Given the description of an element on the screen output the (x, y) to click on. 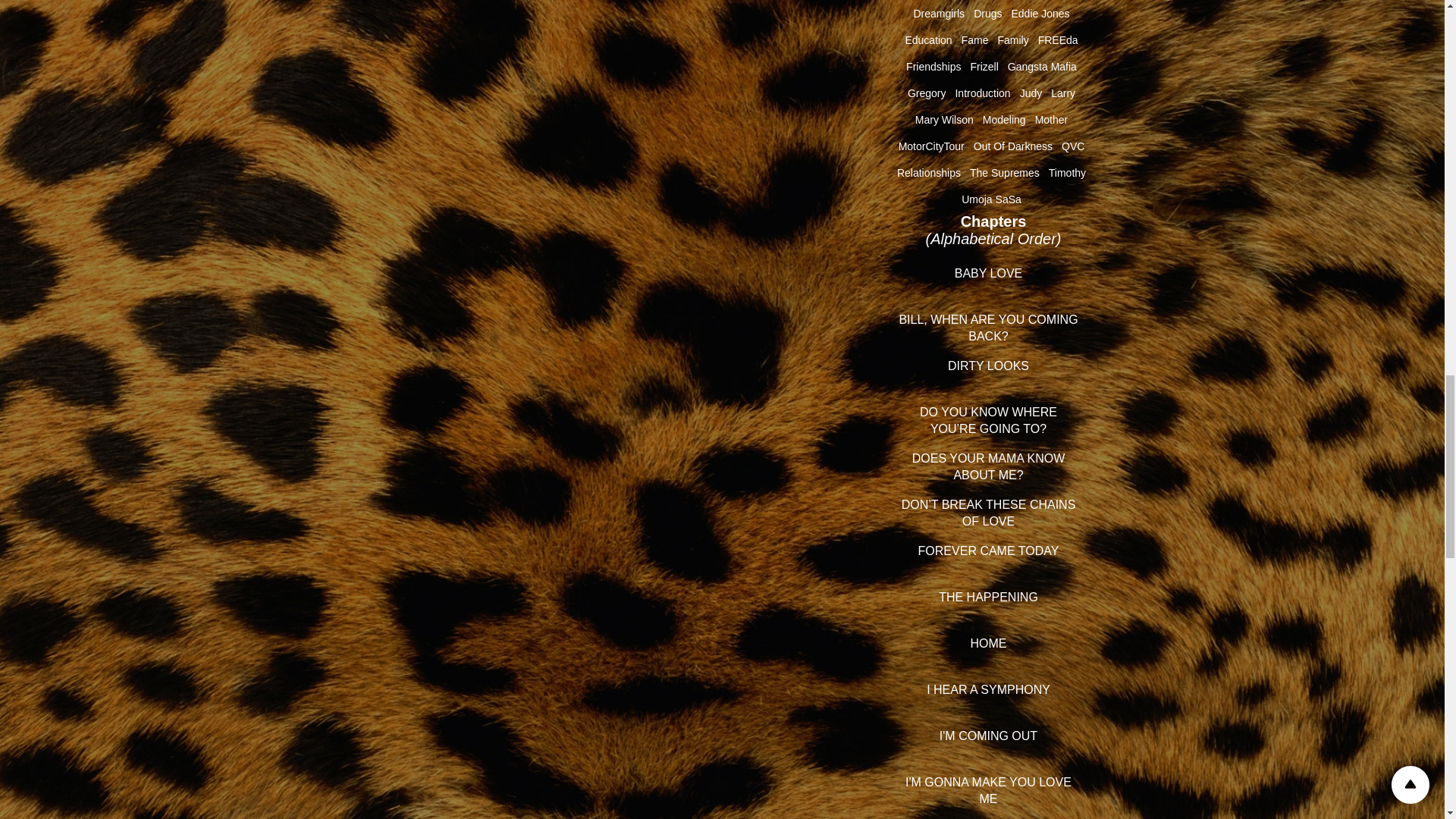
Education (928, 39)
Frizell (983, 66)
Relationships (928, 173)
Friendships (932, 66)
Larry (1063, 92)
QVC (1072, 146)
MotorCityTour (930, 146)
Drugs (987, 13)
Mary Wilson (944, 119)
Gangsta Mafia (1042, 66)
Gregory (926, 92)
FREEda (1058, 39)
Modeling (1004, 119)
Out Of Darkness (1013, 146)
Mother (1051, 119)
